Given the description of an element on the screen output the (x, y) to click on. 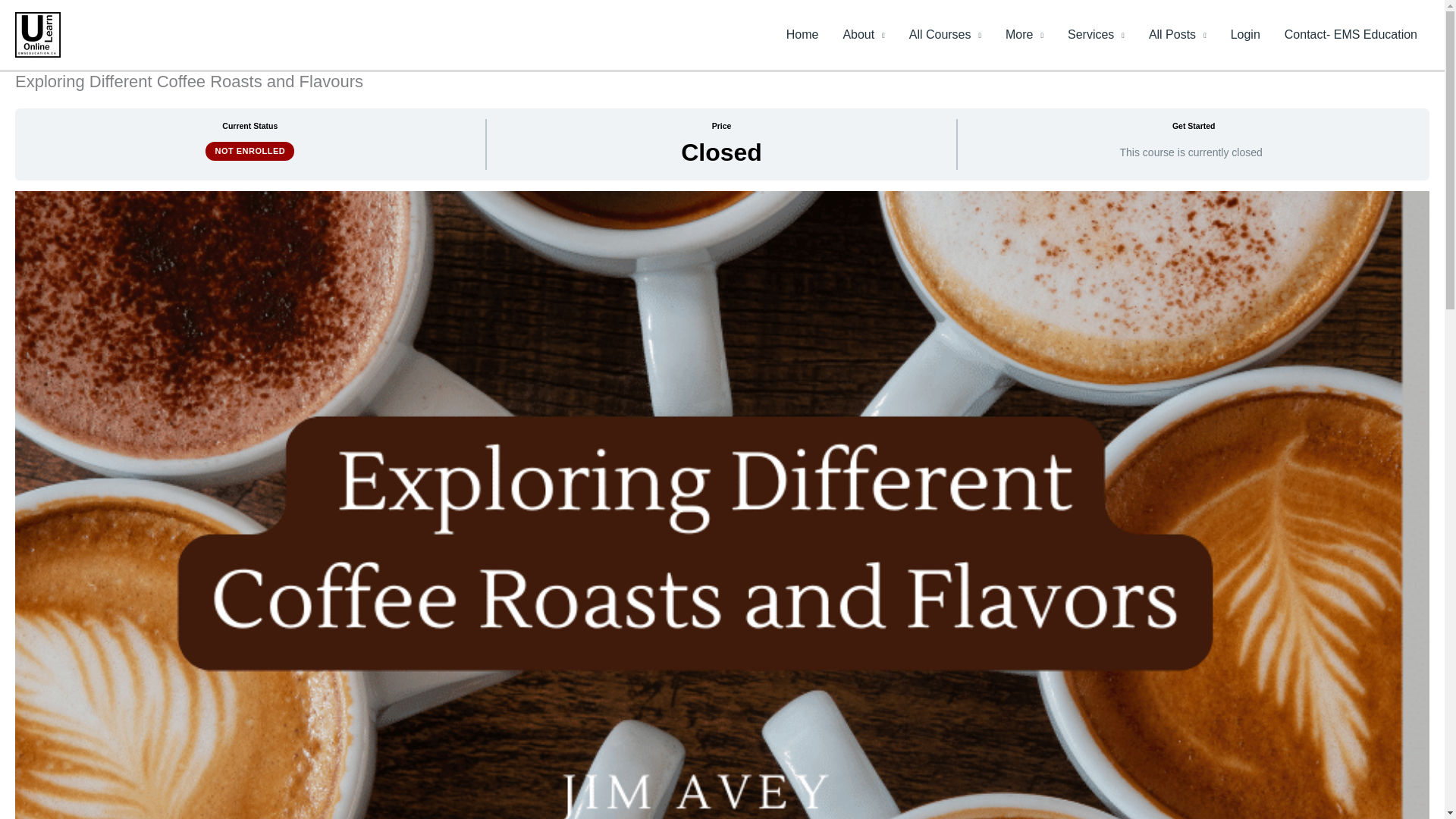
About (862, 34)
More (1023, 34)
Contact- EMS Education (1350, 34)
All Courses (944, 34)
Services (1096, 34)
All Posts (1177, 34)
